Given the description of an element on the screen output the (x, y) to click on. 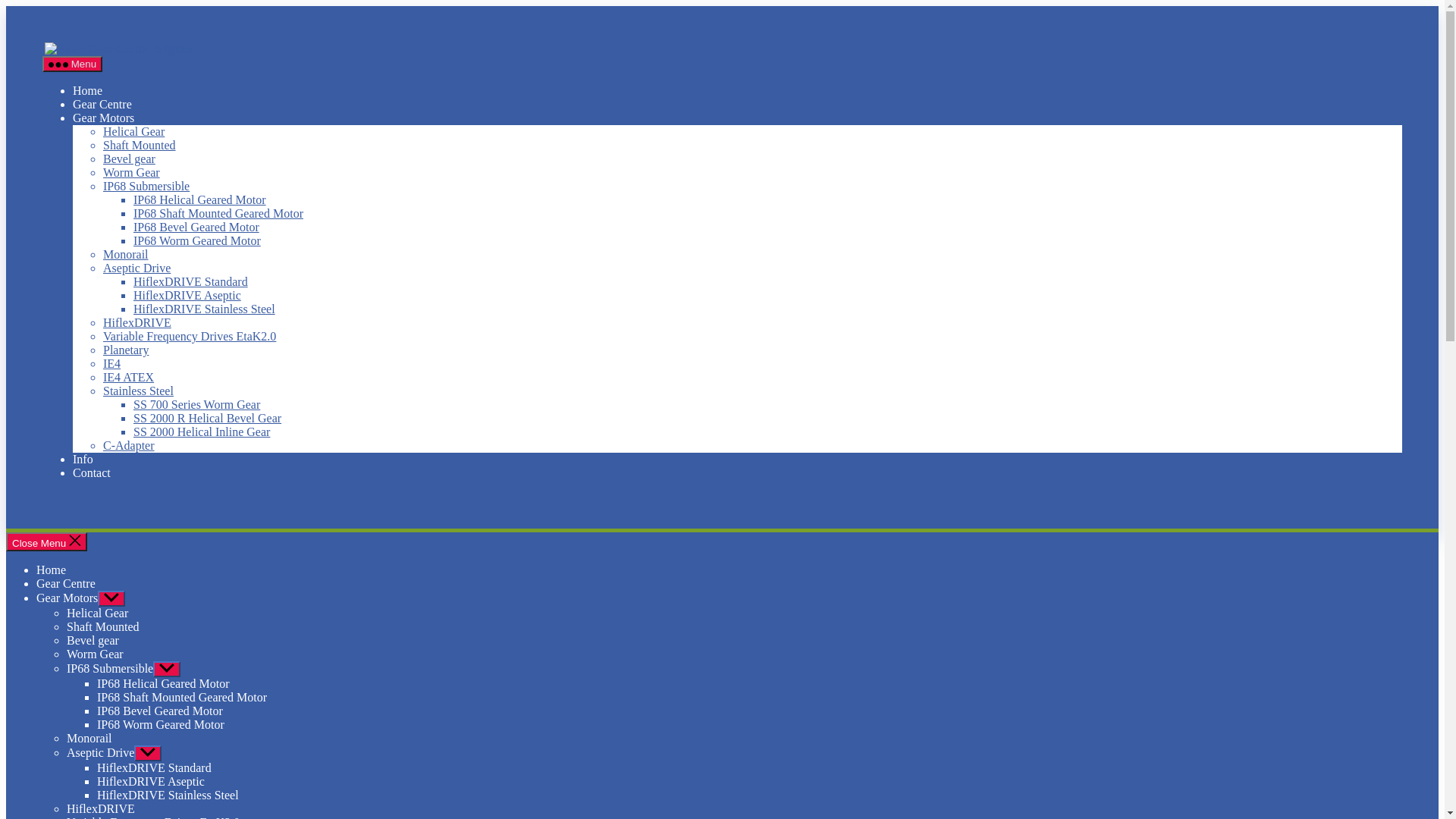
Variable Frequency Drives EtaK2.0 Element type: text (189, 335)
Worm Gear Element type: text (131, 172)
HiflexDRIVE Element type: text (100, 808)
Show sub menu Element type: text (166, 669)
Helical Gear Element type: text (97, 612)
HiflexDRIVE Element type: text (137, 322)
IP68 Submersible Element type: text (109, 668)
IE4 Element type: text (111, 363)
HiflexDRIVE Stainless Steel Element type: text (204, 308)
SS 2000 Helical Inline Gear Element type: text (201, 431)
HiflexDRIVE Aseptic Element type: text (150, 781)
IP68 Bevel Geared Motor Element type: text (196, 226)
Home Element type: text (50, 569)
Bevel gear Element type: text (129, 158)
Aseptic Drive Element type: text (100, 752)
Gear Motors Element type: text (103, 117)
IP68 Shaft Mounted Geared Motor Element type: text (181, 696)
Contact Element type: text (91, 472)
Show sub menu Element type: text (147, 753)
Aseptic Drive Element type: text (136, 267)
IE4 ATEX Element type: text (128, 376)
Shaft Mounted Element type: text (139, 144)
HiflexDRIVE Stainless Steel Element type: text (167, 794)
IP68 Shaft Mounted Geared Motor Element type: text (218, 213)
HiflexDRIVE Standard Element type: text (154, 767)
Gear Centre Element type: text (65, 583)
Info Element type: text (82, 458)
IP68 Helical Geared Motor Element type: text (163, 683)
Planetary Element type: text (125, 349)
Menu Element type: text (72, 64)
IP68 Worm Geared Motor Element type: text (196, 240)
C-Adapter Element type: text (128, 445)
Shaft Mounted Element type: text (102, 626)
Monorail Element type: text (125, 253)
Close Menu Element type: text (46, 541)
Monorail Element type: text (89, 737)
IP68 Submersible Element type: text (146, 185)
Worm Gear Element type: text (94, 653)
SS 700 Series Worm Gear Element type: text (196, 404)
Gear Centre Element type: text (101, 103)
HiflexDRIVE Standard Element type: text (190, 281)
IP68 Bevel Geared Motor Element type: text (159, 710)
IP68 Worm Geared Motor Element type: text (160, 724)
SS 2000 R Helical Bevel Gear Element type: text (207, 417)
Show sub menu Element type: text (111, 598)
Skip to the content Element type: text (5, 5)
IP68 Helical Geared Motor Element type: text (199, 199)
Home Element type: text (87, 90)
Gear Motors Element type: text (66, 597)
HiflexDRIVE Aseptic Element type: text (187, 294)
Stainless Steel Element type: text (138, 390)
Helical Gear Element type: text (133, 131)
Bevel gear Element type: text (92, 639)
